Given the description of an element on the screen output the (x, y) to click on. 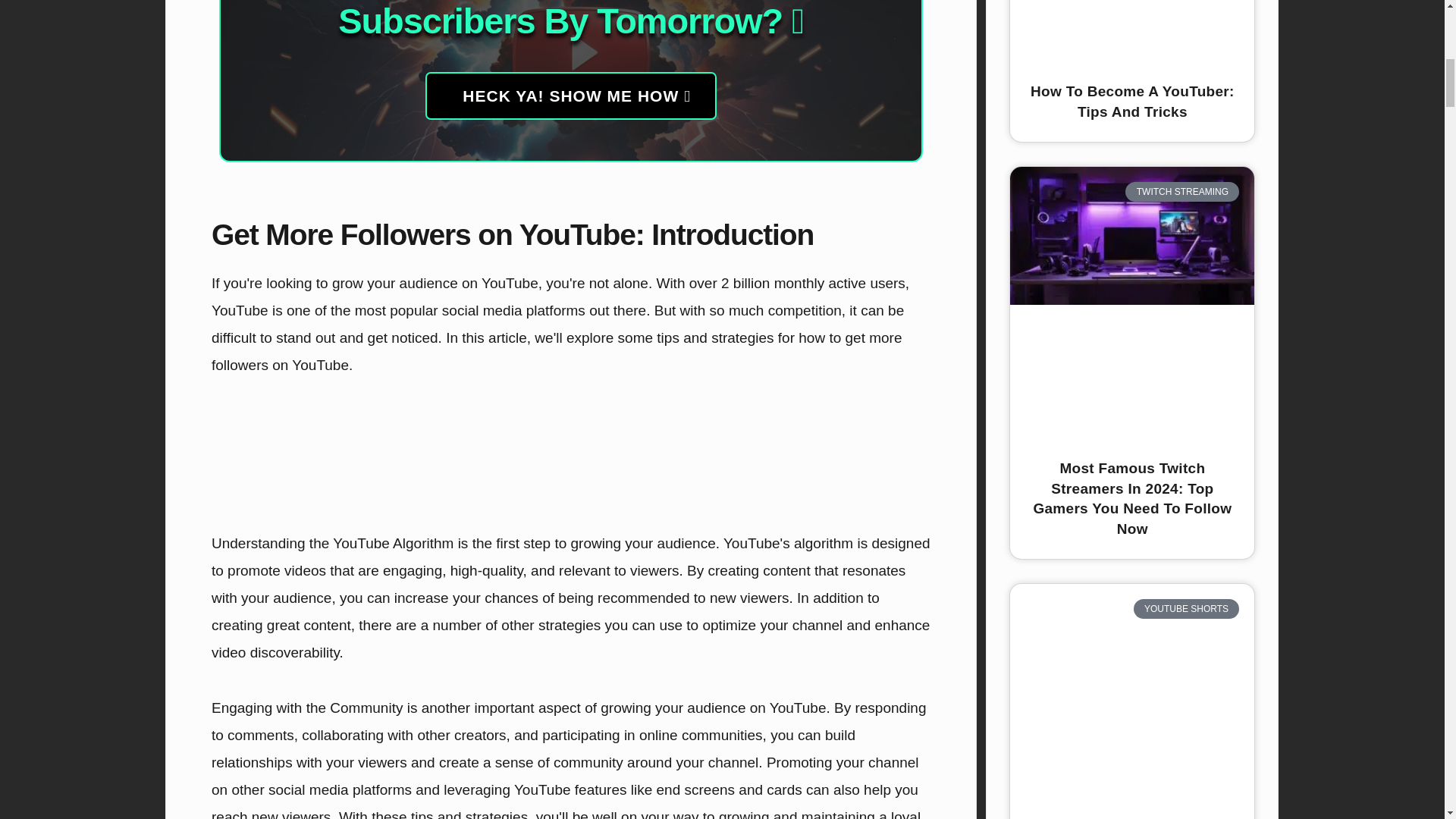
HECK YA! SHOW ME HOW (570, 96)
Understanding the YouTube Algorithm (331, 543)
grow your audience on YouTube (434, 283)
creating content that resonates (806, 570)
increase your chances of being recommended (542, 597)
